Given the description of an element on the screen output the (x, y) to click on. 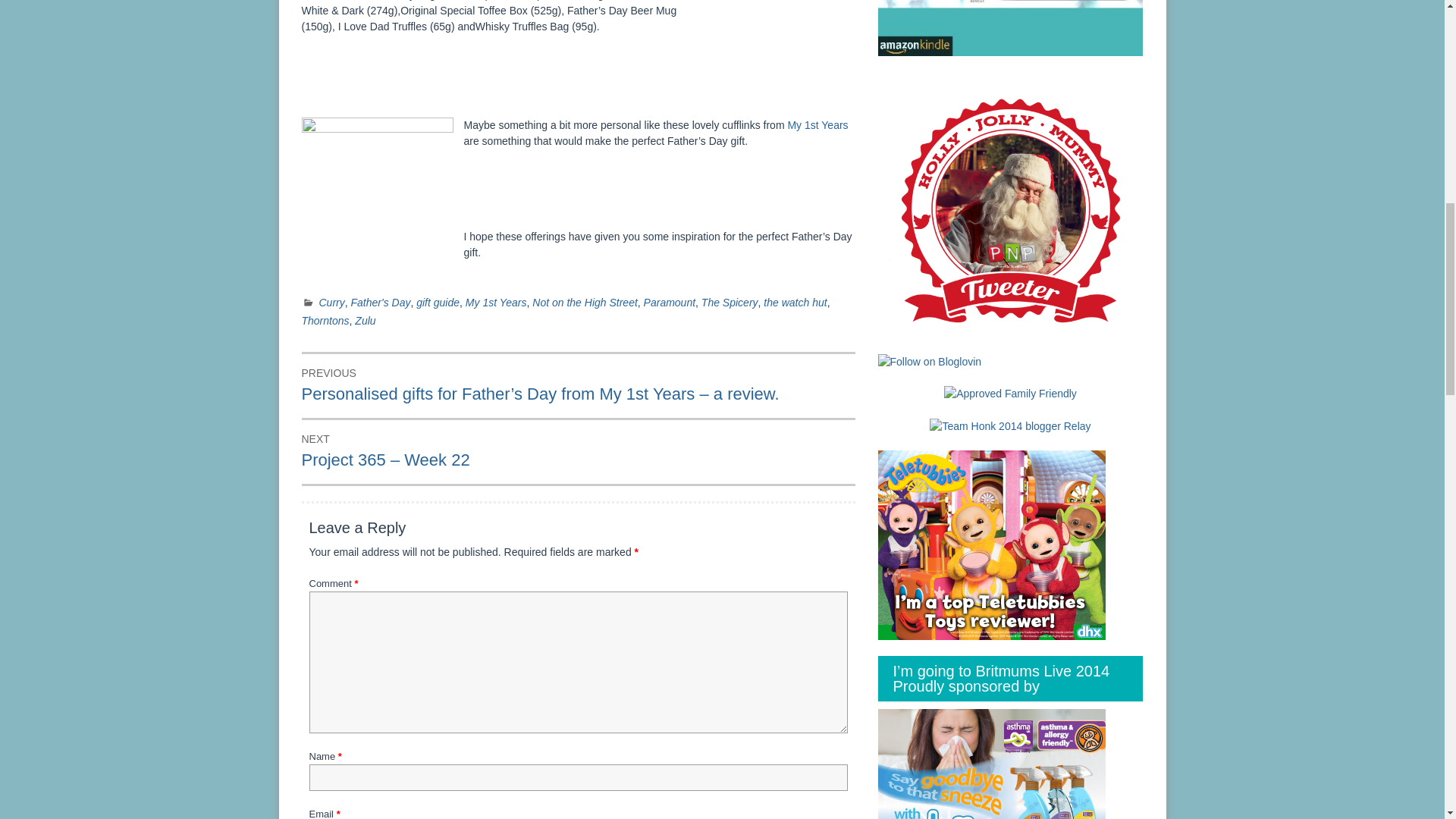
Father's Day (380, 302)
Not on the High Street (584, 302)
The Spicery (729, 302)
My 1st Years (496, 302)
Paramount (669, 302)
Team Honk 2014 blogger Relay (1010, 425)
Thorntons (325, 320)
My 1st Years (817, 124)
the watch hut (794, 302)
Approved Family Friendly Trustmark (1010, 393)
Zulu (365, 320)
AFF Assessor Badge (1010, 393)
Follow Mum of 3 Boys on Bloglovin (929, 360)
Curry (330, 302)
gift guide (438, 302)
